Given the description of an element on the screen output the (x, y) to click on. 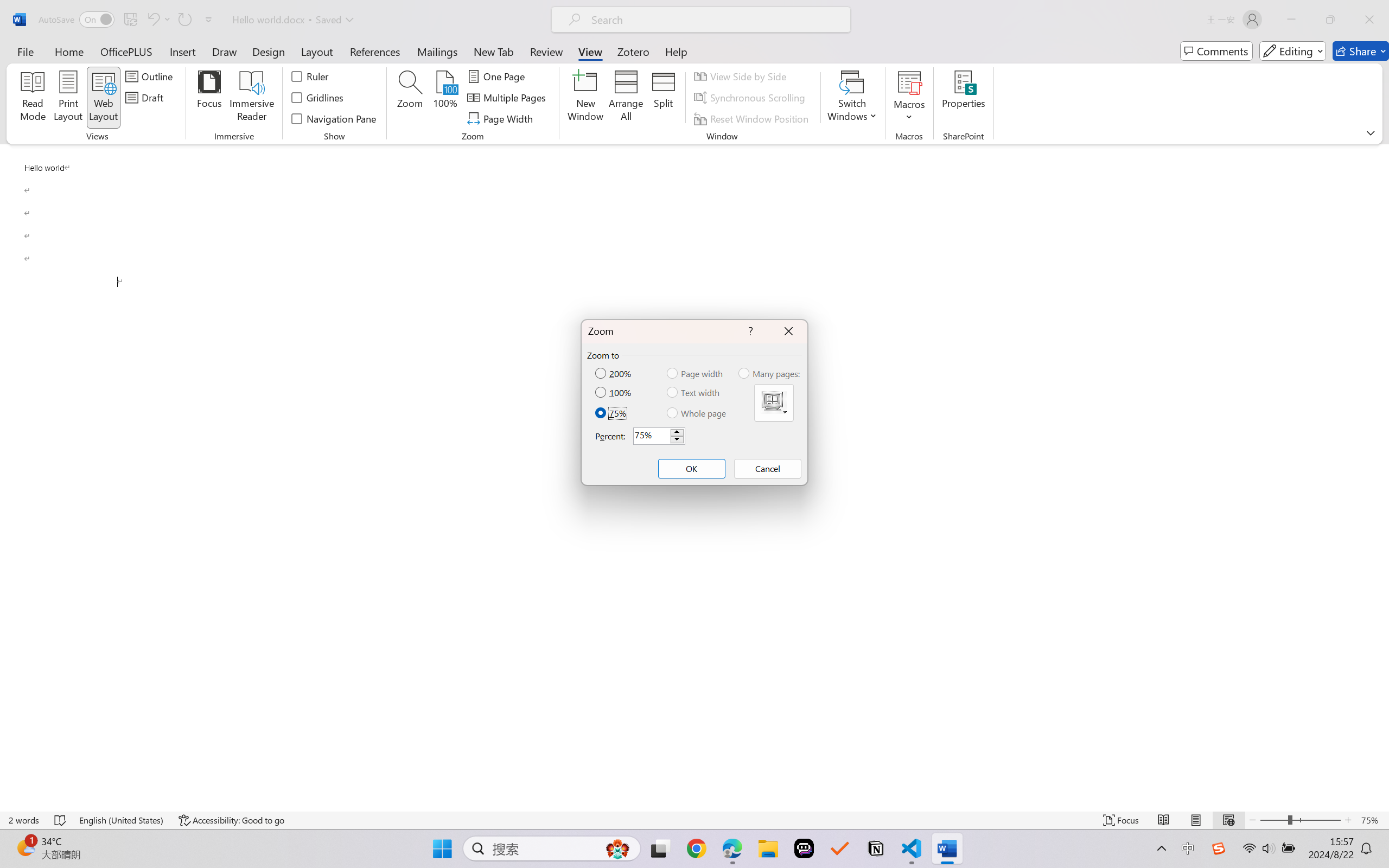
Review (546, 51)
Class: MsoCommandBar (694, 819)
75% (611, 412)
Mailings (437, 51)
Save (130, 19)
Immersive Reader (251, 97)
Editing (1292, 50)
New Window (585, 97)
Gridlines (317, 97)
Web Layout (1228, 819)
